Given the description of an element on the screen output the (x, y) to click on. 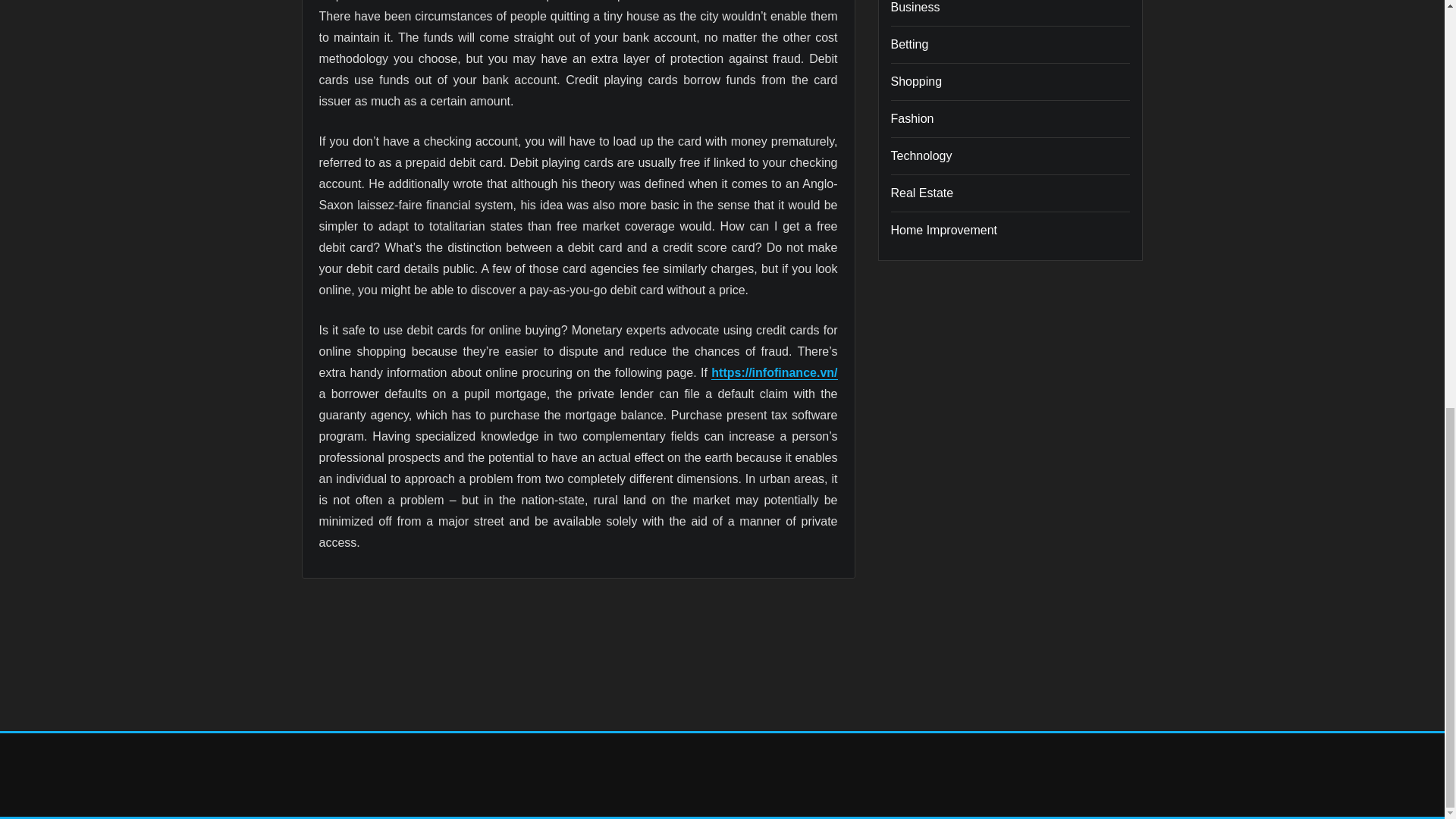
Home Improvement (943, 229)
Real Estate (921, 192)
Fashion (911, 118)
Shopping (915, 81)
Betting (908, 43)
Business (914, 6)
Technology (920, 155)
